Given the description of an element on the screen output the (x, y) to click on. 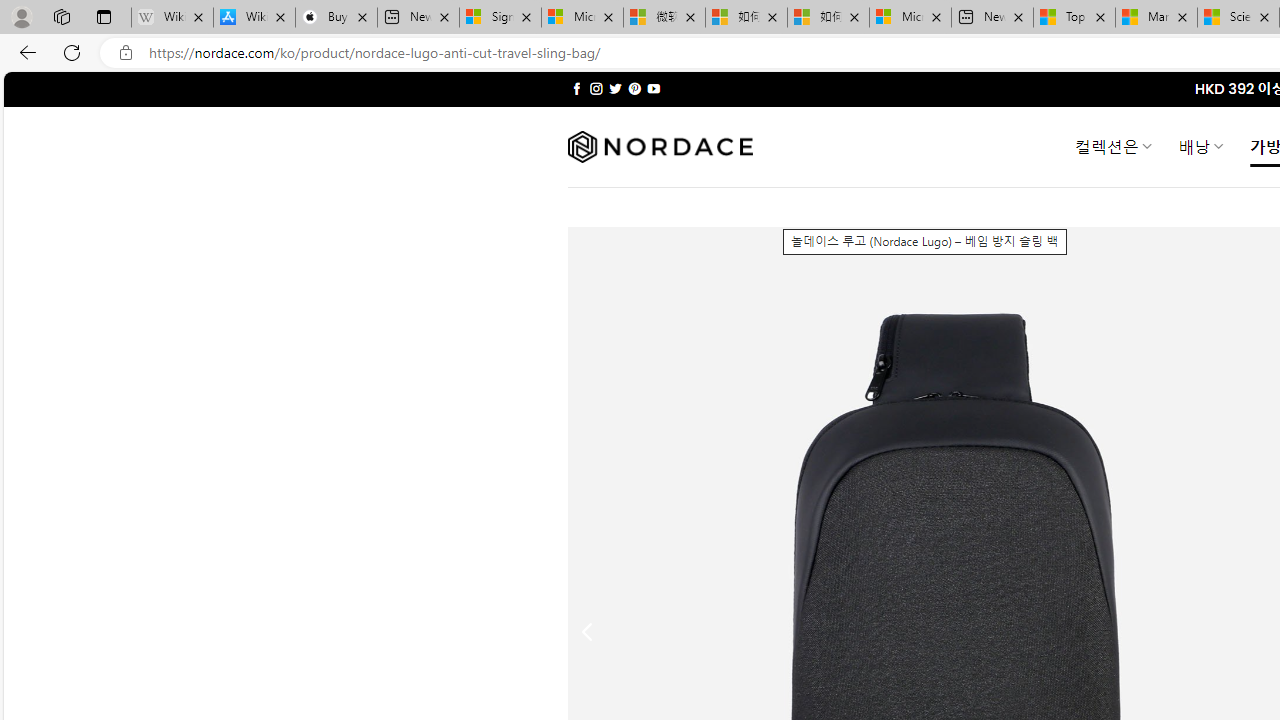
Follow on Instagram (596, 88)
Follow on YouTube (653, 88)
Follow on Pinterest (634, 88)
